Given the description of an element on the screen output the (x, y) to click on. 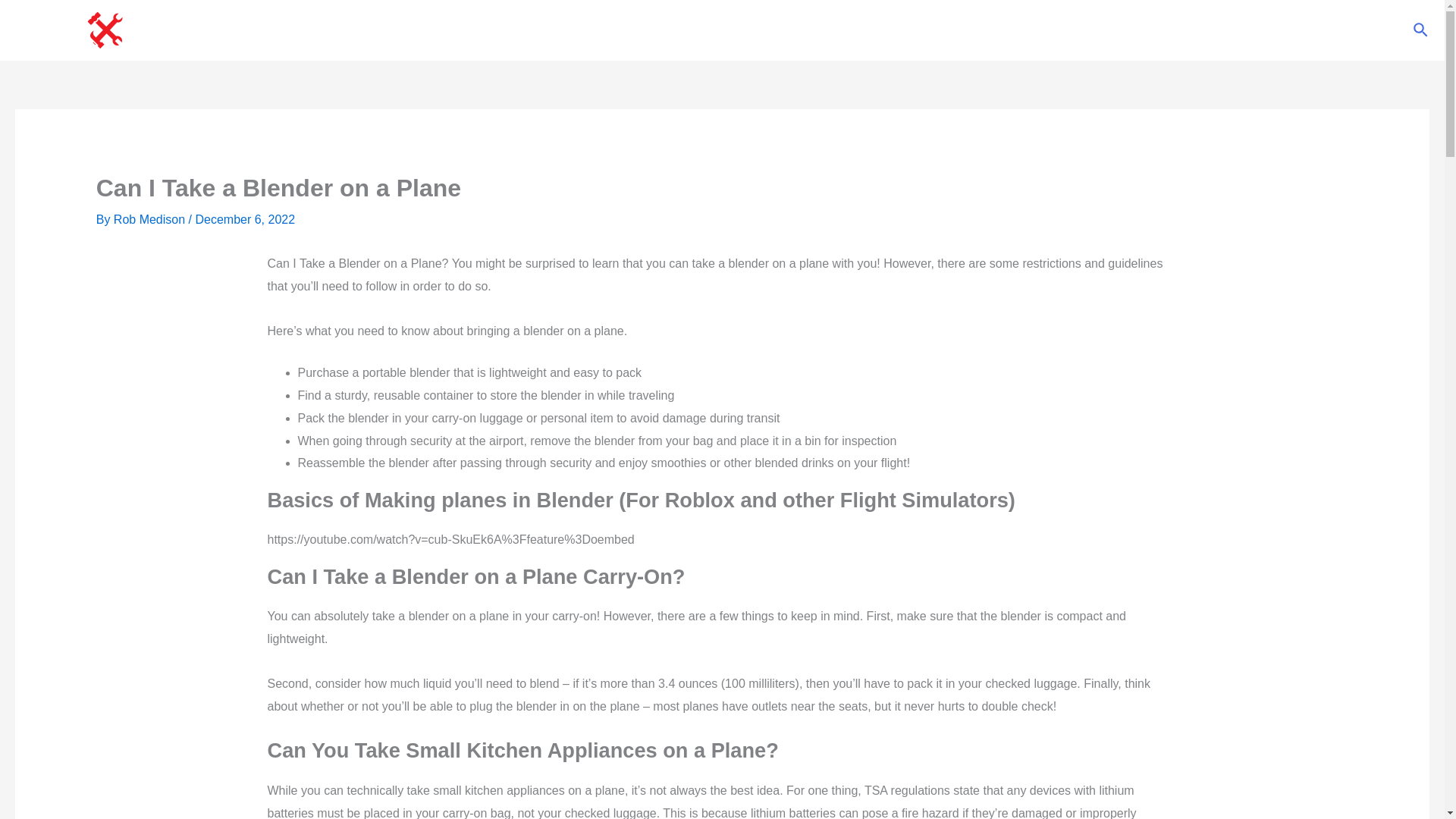
Tools Reviews (627, 30)
Guide (838, 30)
Rob Medison (151, 219)
View all posts by Rob Medison (151, 219)
Equipment Reviews (744, 30)
